Given the description of an element on the screen output the (x, y) to click on. 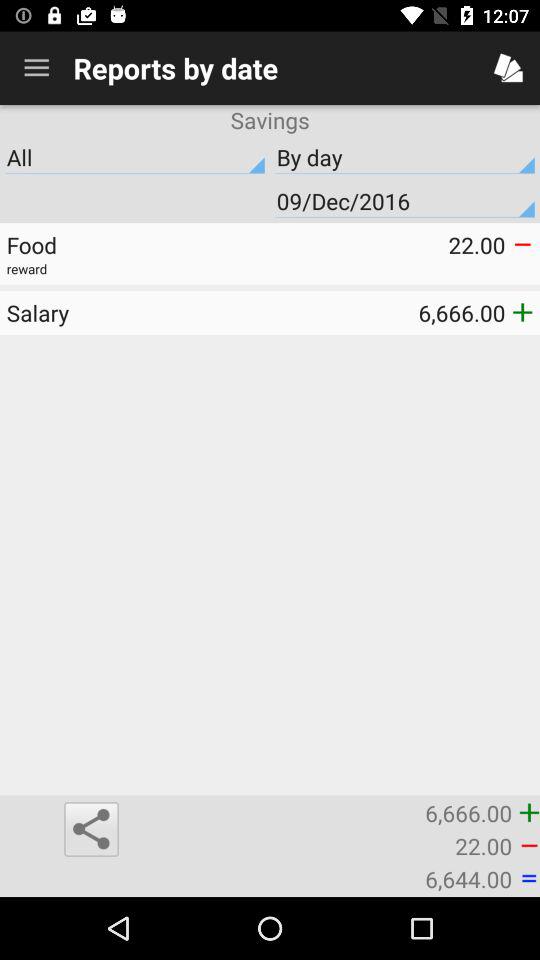
choose item next to the by day (135, 157)
